Given the description of an element on the screen output the (x, y) to click on. 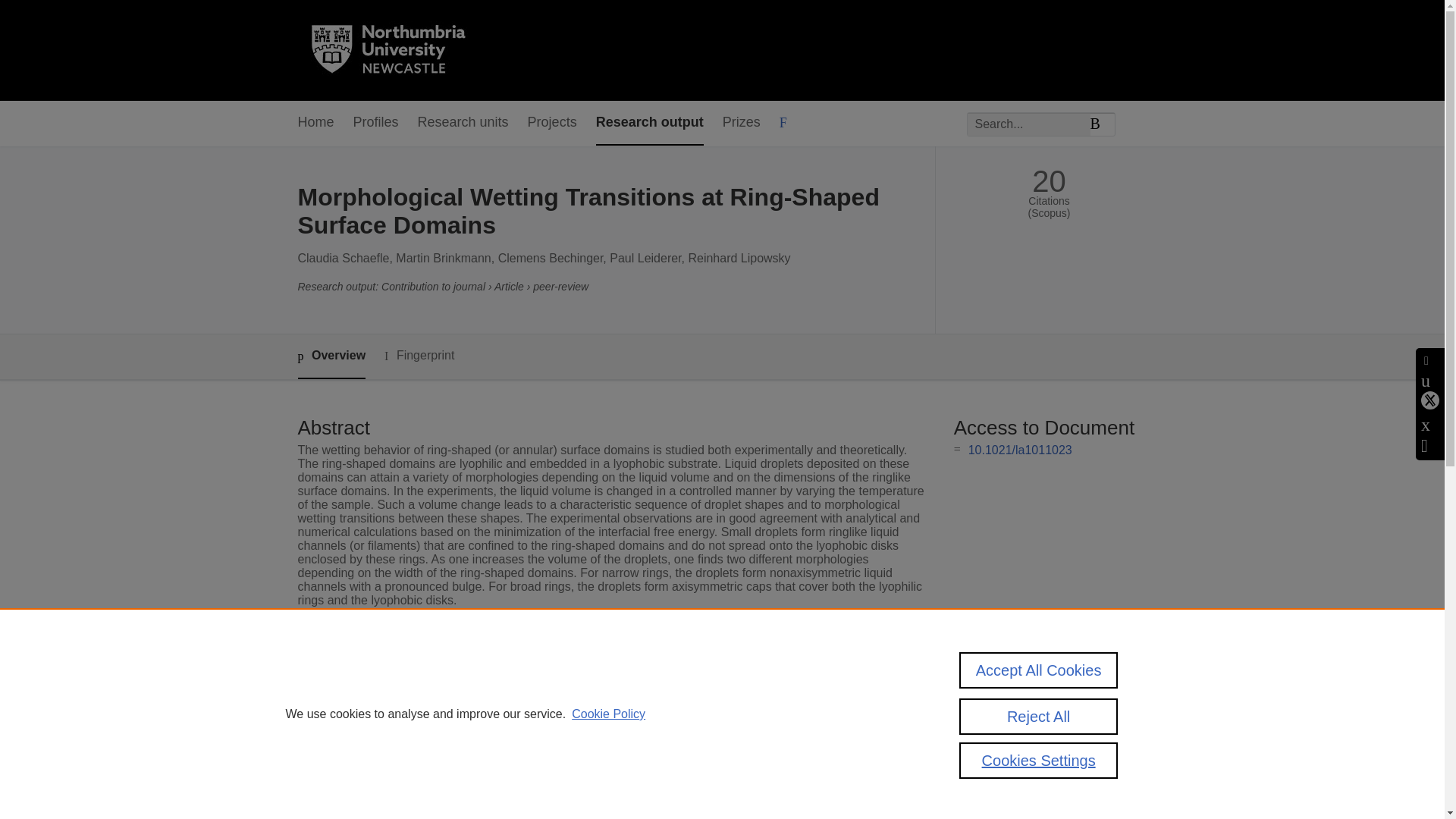
Overview (331, 356)
Northumbria University Research Portal Home (398, 50)
Fingerprint (419, 355)
Research units (462, 122)
Projects (551, 122)
Profiles (375, 122)
Langmuir (537, 673)
Research output (649, 122)
